Given the description of an element on the screen output the (x, y) to click on. 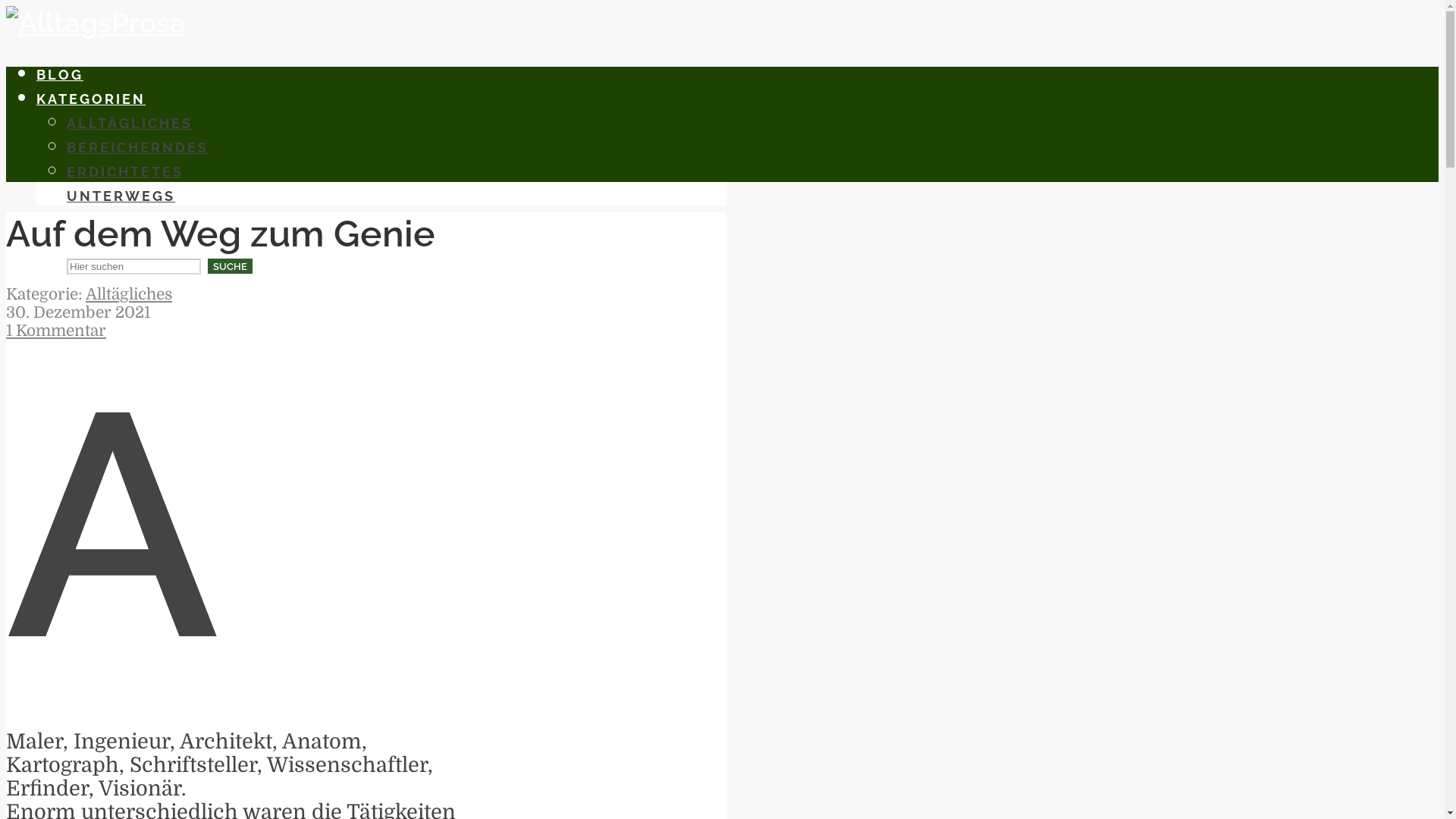
ERDICHTETES Element type: text (124, 171)
1 Kommentar Element type: text (56, 330)
KONTAKT Element type: text (76, 220)
BLOG Element type: text (59, 74)
SUCHE Element type: text (229, 265)
UNTERWEGS Element type: text (120, 195)
KATEGORIEN Element type: text (90, 98)
BEREICHERNDES Element type: text (137, 147)
